Given the description of an element on the screen output the (x, y) to click on. 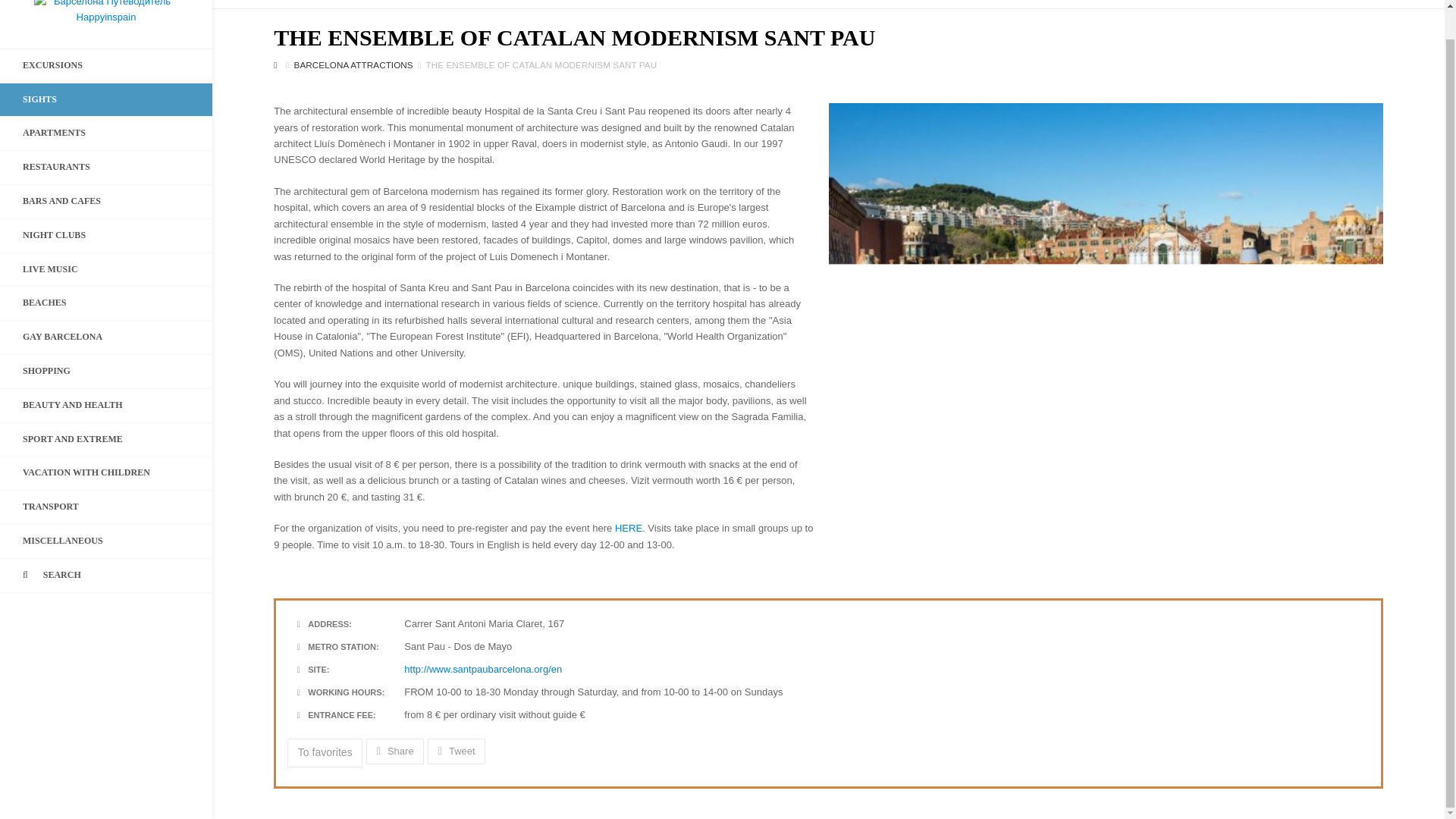
EXCURSIONS (106, 65)
SIGHTS (106, 100)
RESTAURANTS (106, 167)
APARTMENTS (106, 133)
Barcelona Attractions (353, 64)
BARS AND CAFES (106, 201)
